Given the description of an element on the screen output the (x, y) to click on. 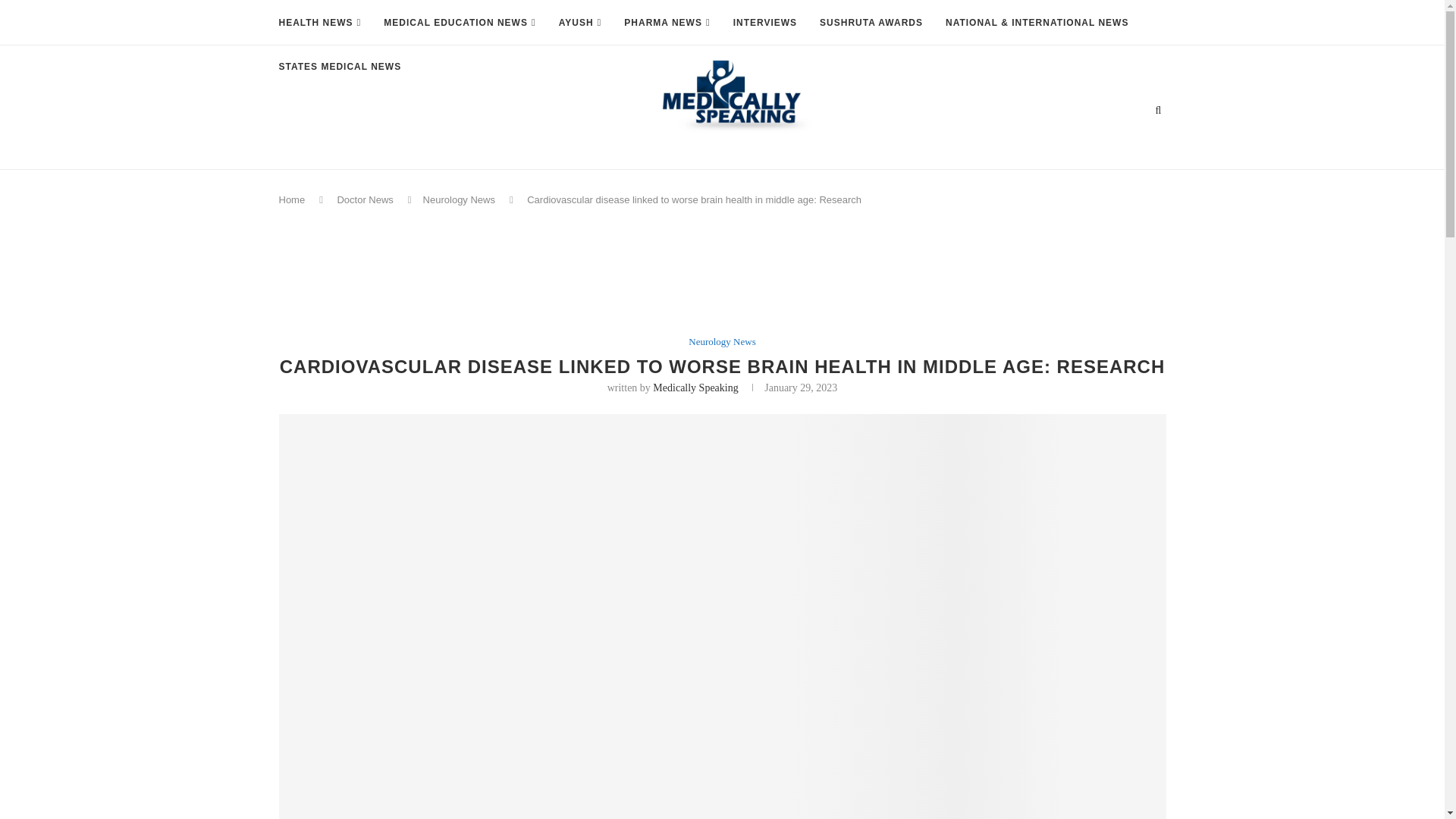
AYUSH (580, 22)
Neurology News (459, 199)
MEDICAL EDUCATION NEWS (459, 22)
STATES MEDICAL NEWS (340, 66)
Home (292, 199)
SUSHRUTA AWARDS (871, 22)
PHARMA NEWS (667, 22)
Doctor News (364, 199)
INTERVIEWS (764, 22)
Neurology News (721, 341)
Medically Speaking (695, 387)
HEALTH NEWS (320, 22)
